Given the description of an element on the screen output the (x, y) to click on. 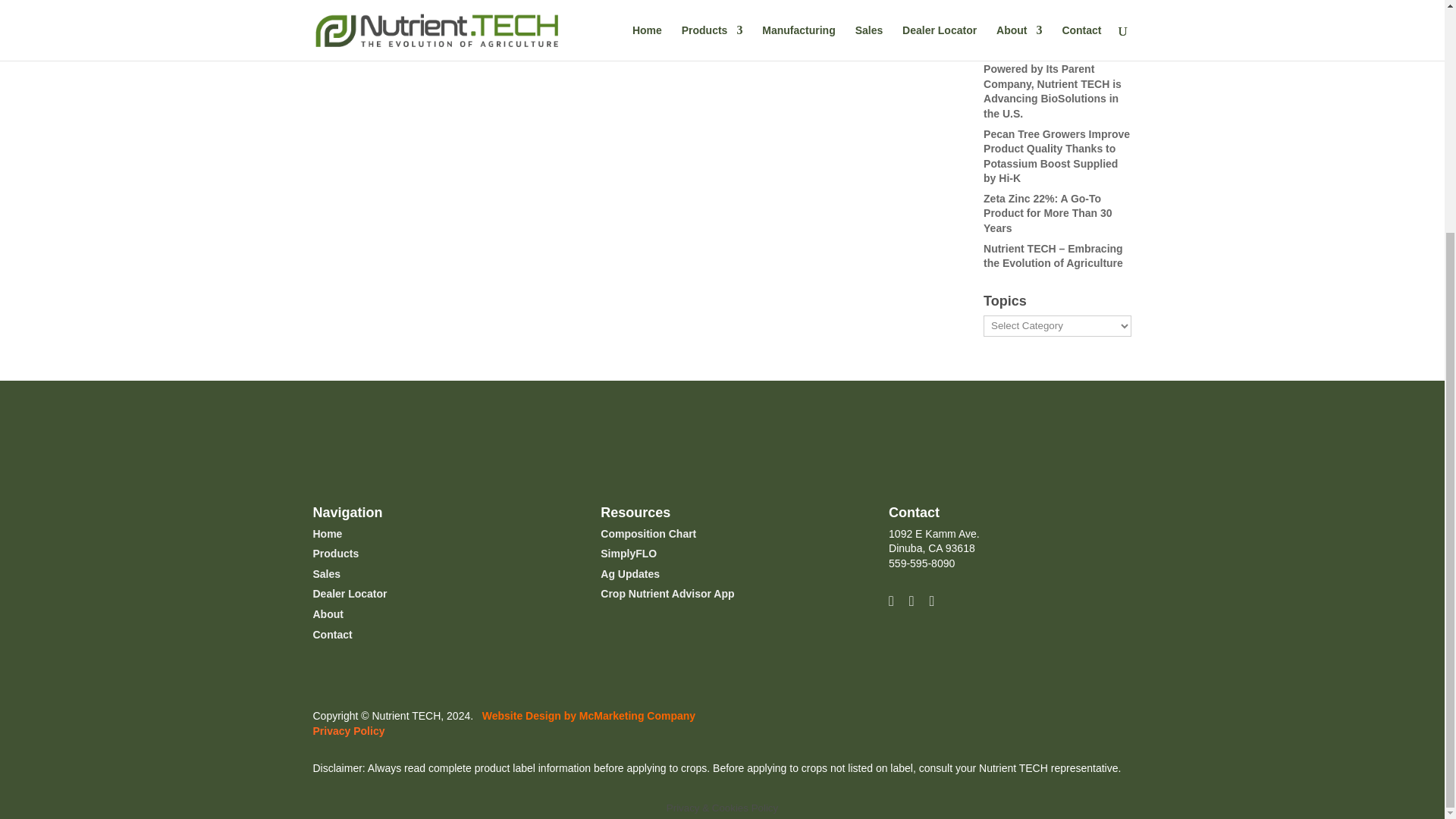
Sales (326, 573)
About (327, 613)
Dealer Locator (350, 593)
Products (335, 553)
Home (327, 533)
